Given the description of an element on the screen output the (x, y) to click on. 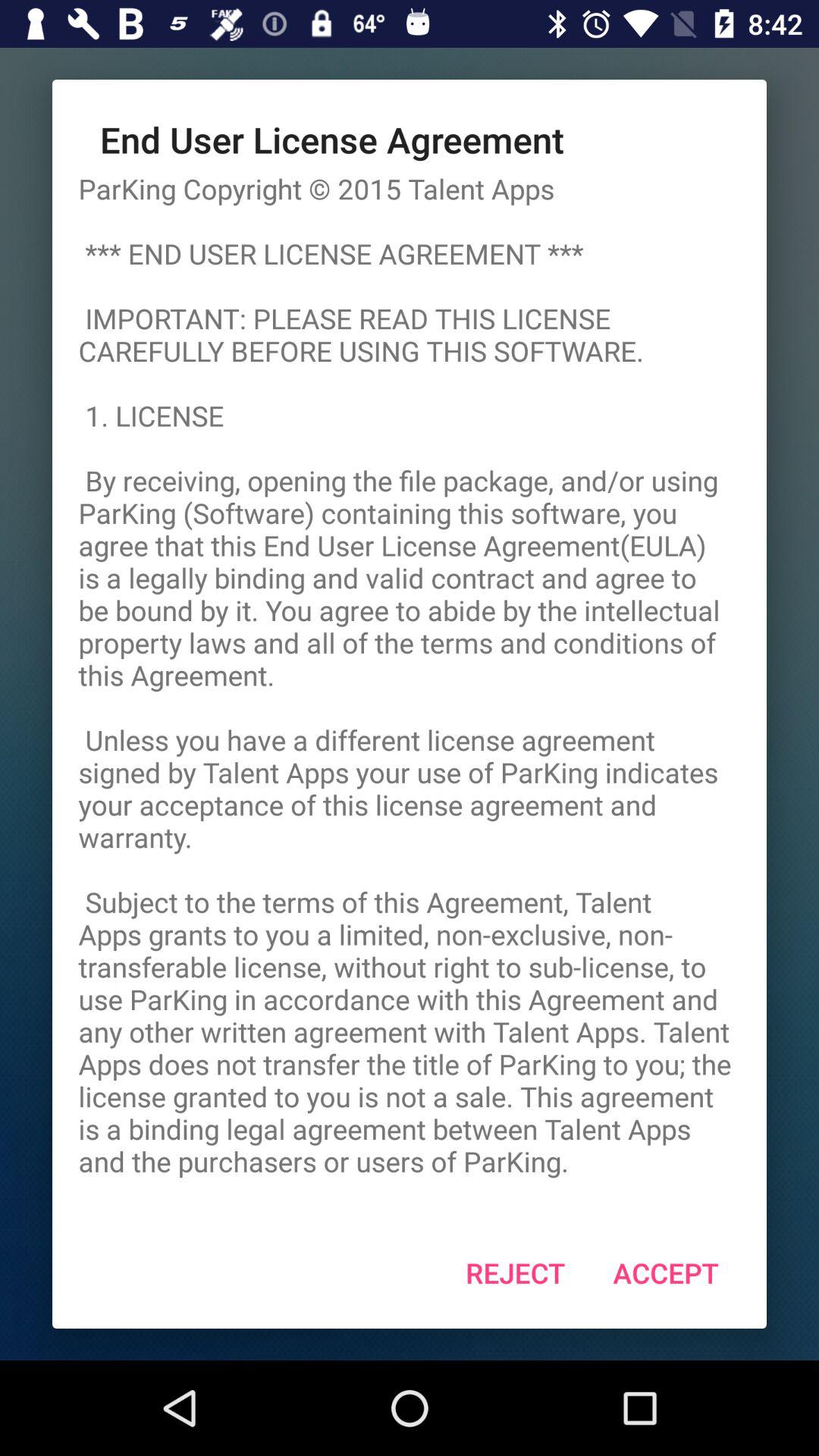
choose icon next to reject icon (665, 1272)
